Given the description of an element on the screen output the (x, y) to click on. 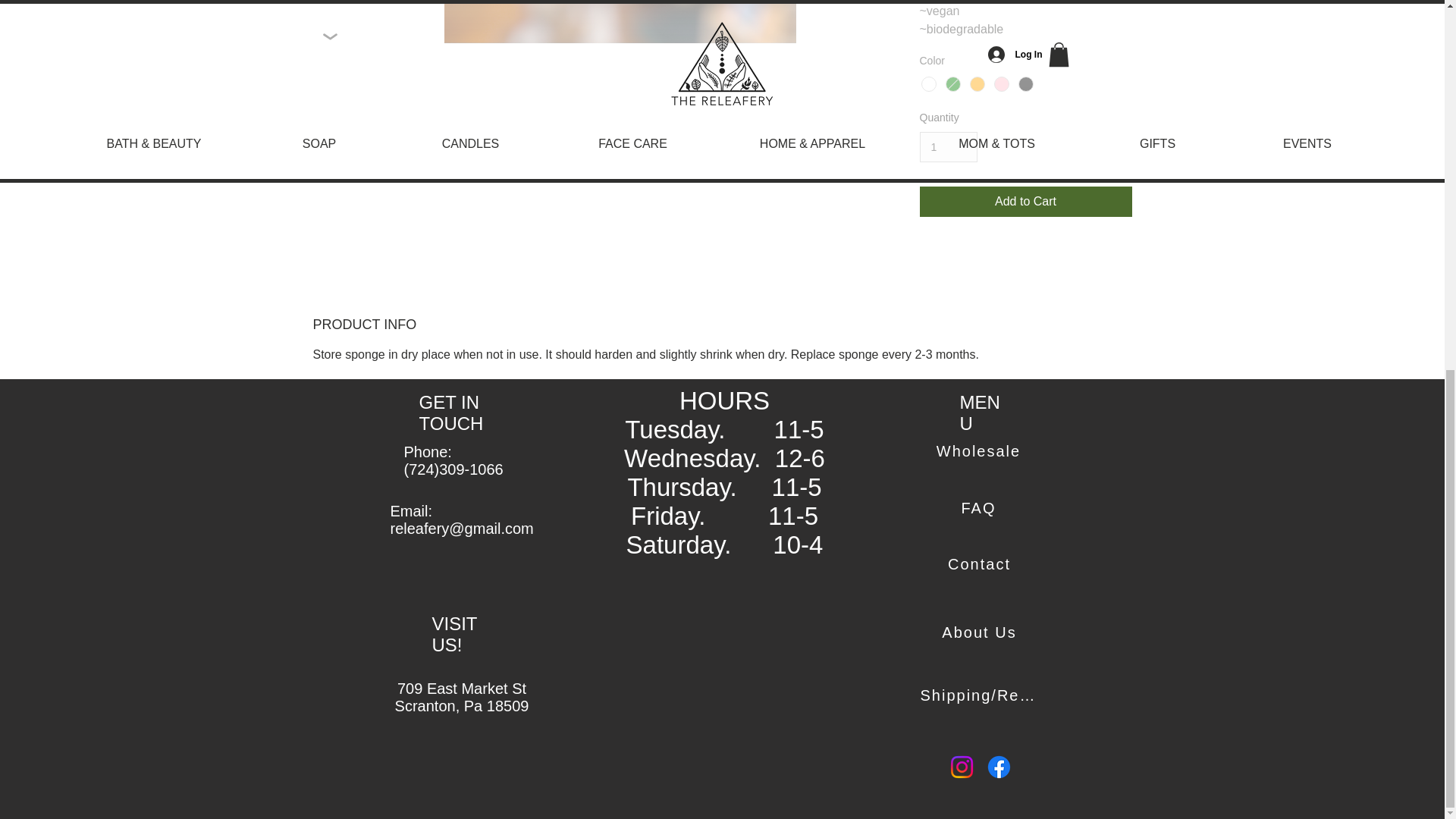
1 (947, 146)
Contact (981, 564)
FAQ (979, 508)
Wholesale (979, 451)
About Us (981, 632)
Add to Cart (1024, 201)
